Given the description of an element on the screen output the (x, y) to click on. 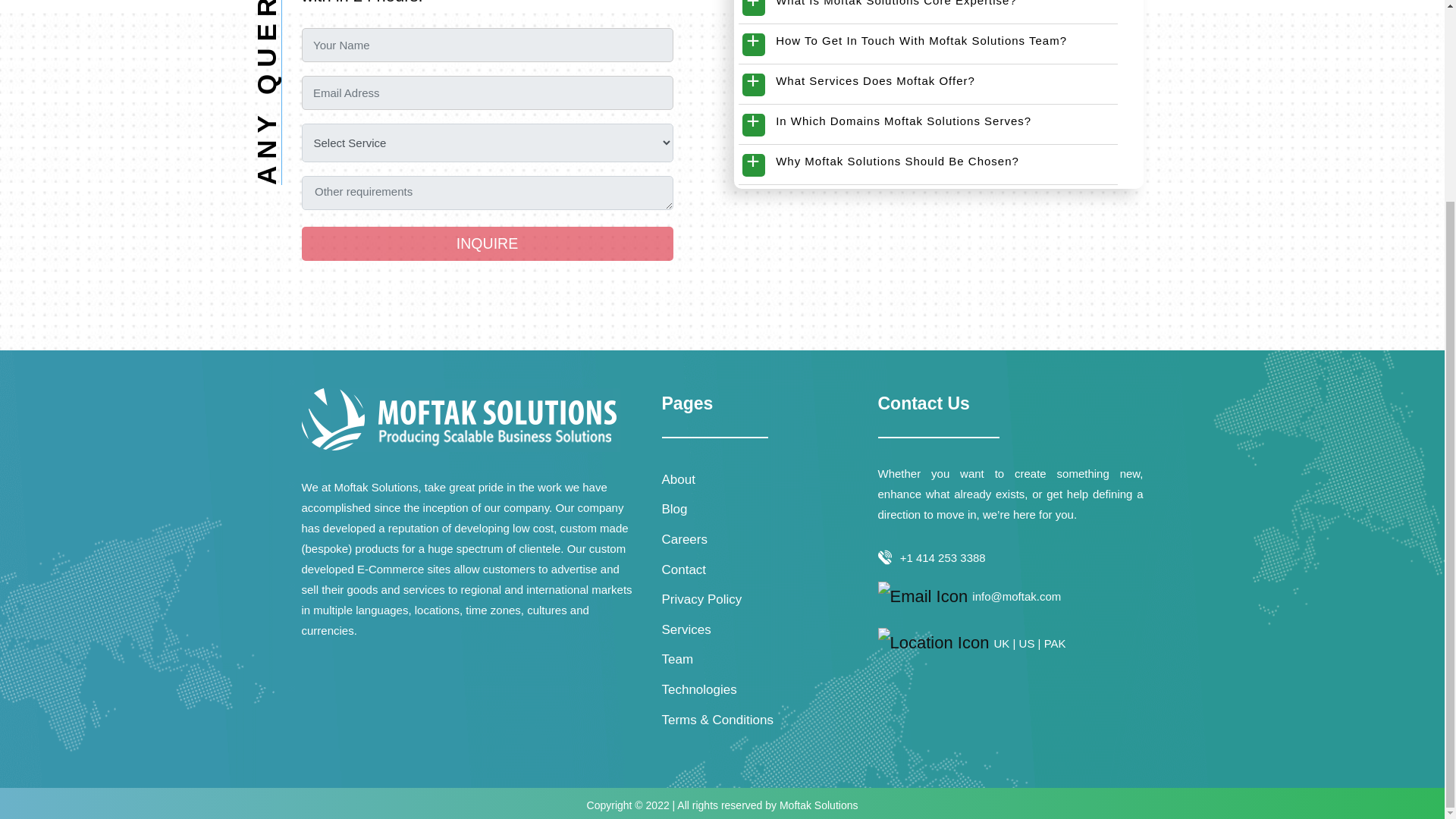
Privacy Policy (701, 599)
About (677, 479)
Moftak Solutions (818, 805)
Technologies (698, 689)
Services (685, 629)
Inquire (486, 243)
Inquire (486, 243)
Contact (683, 569)
Careers (683, 539)
Team (677, 658)
Blog (674, 509)
